Given the description of an element on the screen output the (x, y) to click on. 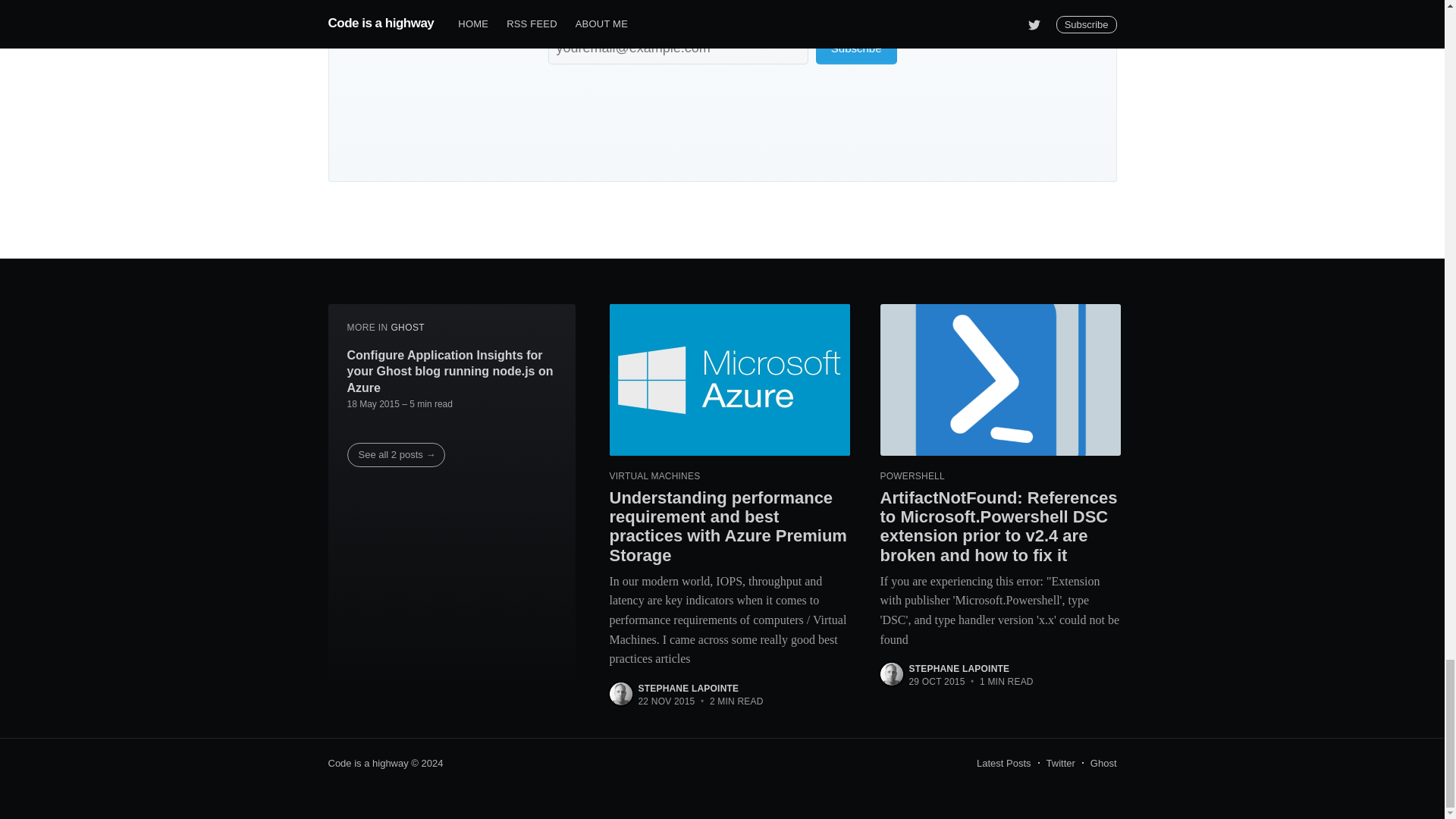
GHOST (407, 327)
Ghost (1103, 763)
Twitter (1060, 763)
STEPHANE LAPOINTE (689, 688)
Latest Posts (1003, 763)
Code is a highway (367, 763)
STEPHANE LAPOINTE (958, 668)
Subscribe (855, 47)
